Given the description of an element on the screen output the (x, y) to click on. 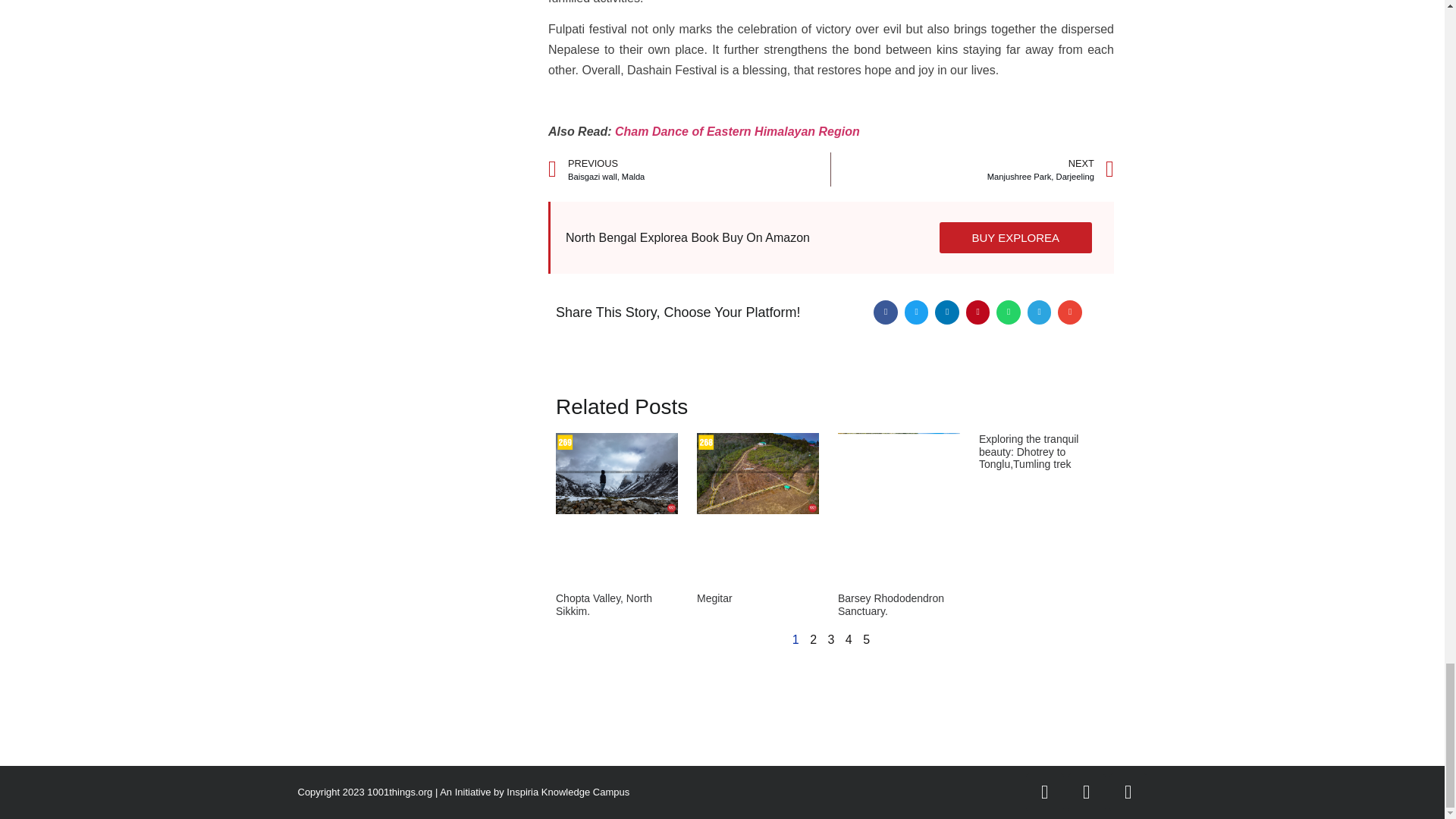
Barsey Rhododendron Sanctuary. (890, 604)
Megitar (714, 598)
Chopta Valley, North Sikkim. (688, 169)
Cham Dance of Eastern Himalayan Region (972, 169)
BUY EXPLOREA (604, 604)
